Given the description of an element on the screen output the (x, y) to click on. 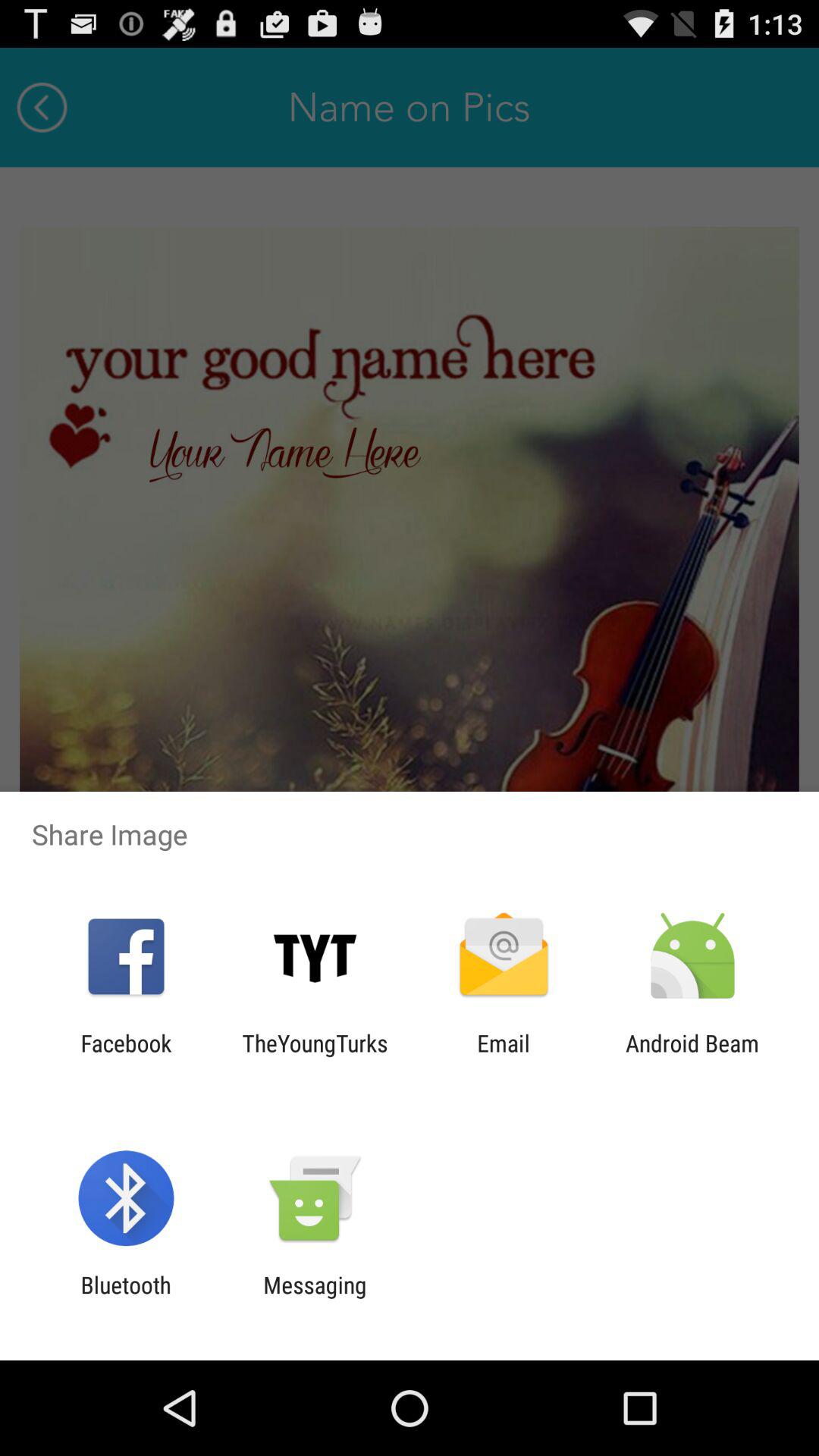
select the app to the right of email icon (692, 1056)
